Given the description of an element on the screen output the (x, y) to click on. 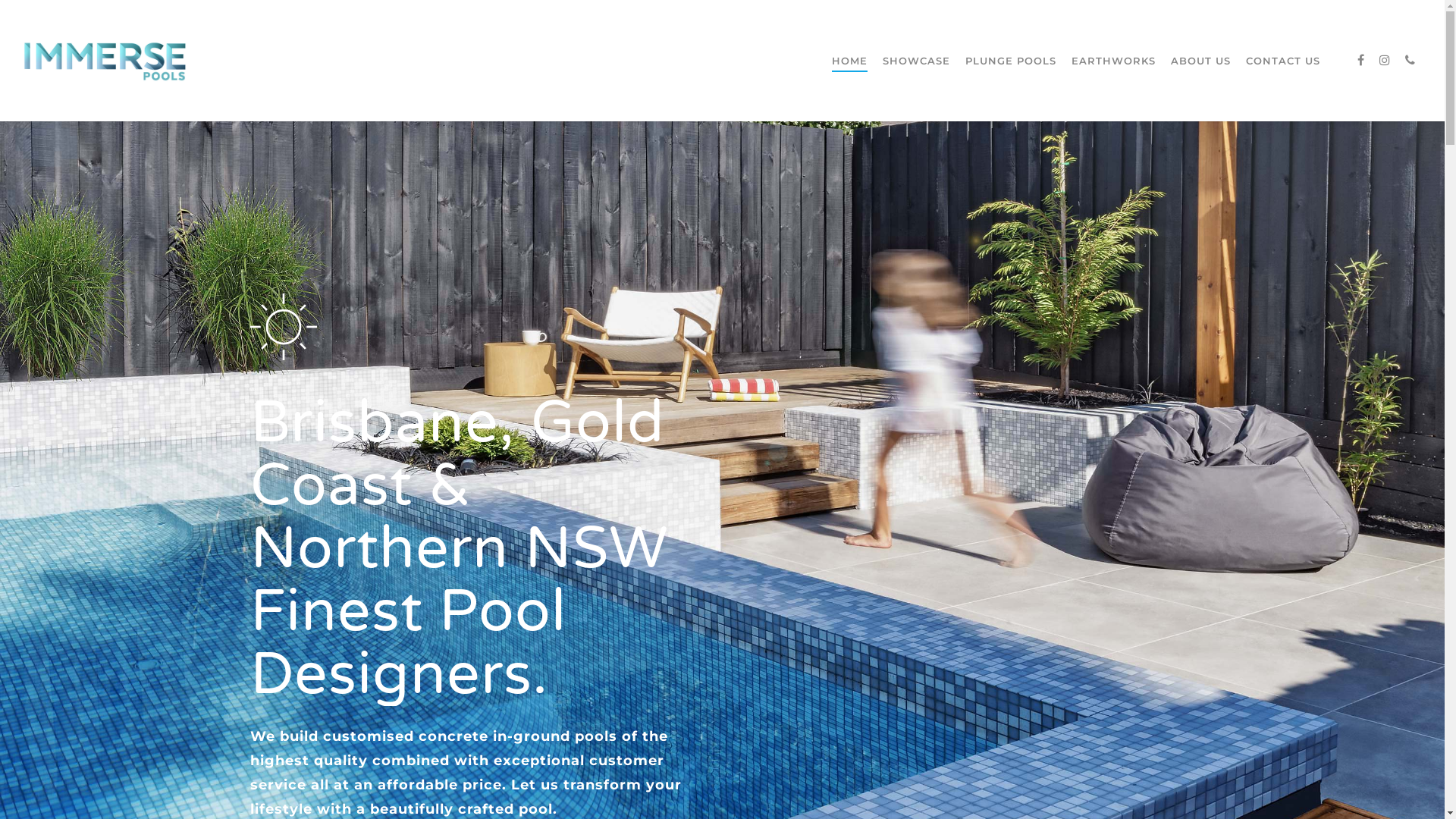
CONTACT US Element type: text (1282, 80)
ABOUT US Element type: text (1200, 80)
HOME Element type: text (849, 80)
PLUNGE POOLS Element type: text (1010, 80)
EARTHWORKS Element type: text (1113, 80)
SHOWCASE Element type: text (916, 80)
